Given the description of an element on the screen output the (x, y) to click on. 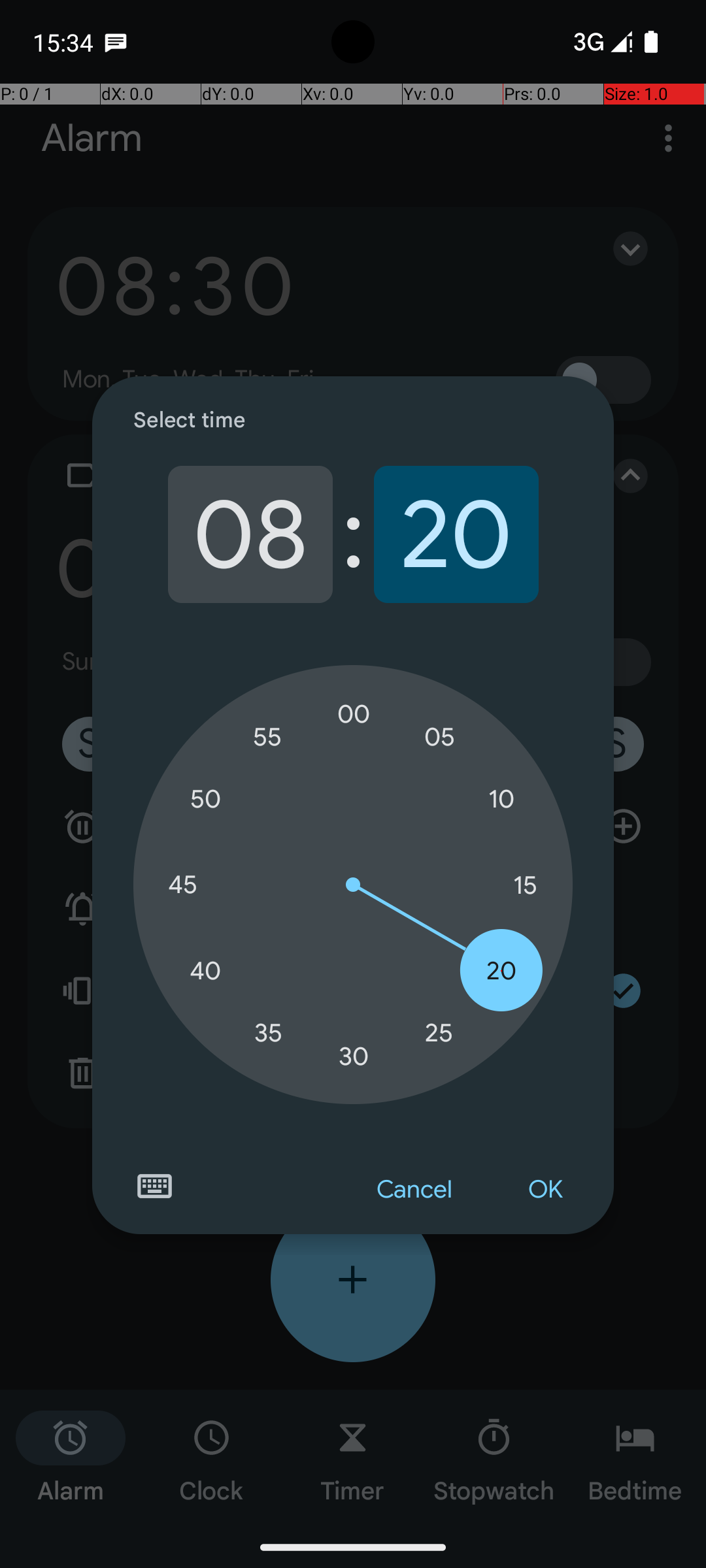
08 Element type: android.view.View (250, 534)
20 Element type: android.view.View (455, 534)
Switch to text input mode for the time input. Element type: android.widget.Button (154, 1186)
Cancel Element type: android.widget.Button (414, 1189)
OK Element type: android.widget.Button (545, 1189)
55 Element type: android.widget.TextView (267, 736)
00 Element type: android.widget.TextView (353, 713)
50 Element type: android.widget.TextView (205, 798)
05 Element type: android.widget.TextView (439, 736)
10 Element type: android.widget.TextView (501, 798)
45 Element type: android.widget.TextView (182, 884)
15 Element type: android.widget.TextView (524, 885)
40 Element type: android.widget.TextView (205, 970)
35 Element type: android.widget.TextView (267, 1032)
30 Element type: android.widget.TextView (353, 1056)
25 Element type: android.widget.TextView (438, 1032)
SMS Messenger notification: Petar Gonzalez Element type: android.widget.ImageView (115, 41)
